Given the description of an element on the screen output the (x, y) to click on. 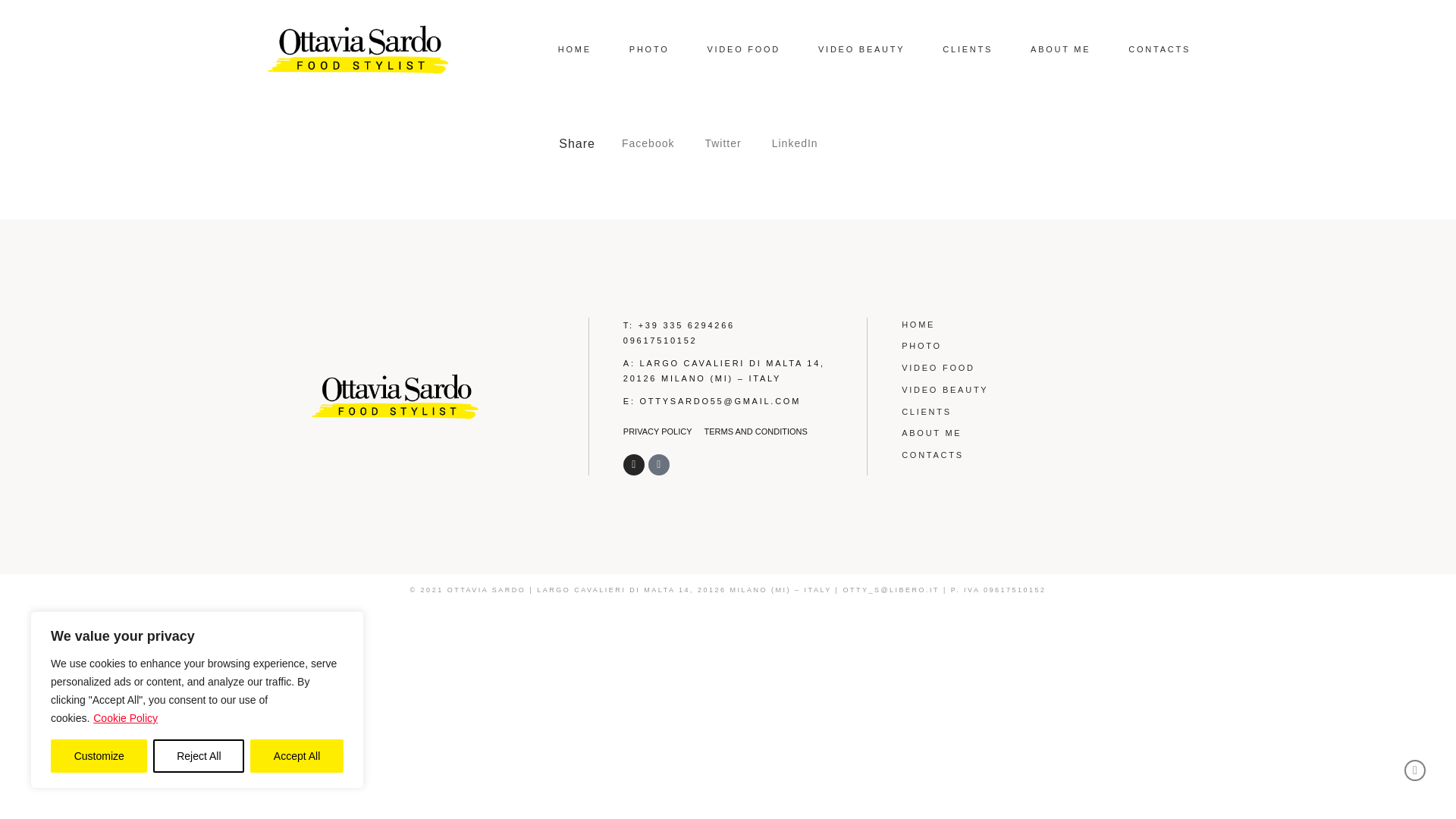
CLIENTS (967, 49)
VIDEO FOOD (743, 49)
HOME (1024, 324)
Customize (98, 756)
Instagram (634, 464)
CONTACTS (1159, 49)
HOME (574, 49)
ABOUT ME (1060, 49)
VIDEO FOOD (1024, 368)
Accept All (296, 756)
PHOTO (1024, 345)
Vimeo-square (658, 464)
PRIVACY POLICY (658, 431)
VIDEO BEAUTY (861, 49)
Cookie Policy (125, 717)
